Given the description of an element on the screen output the (x, y) to click on. 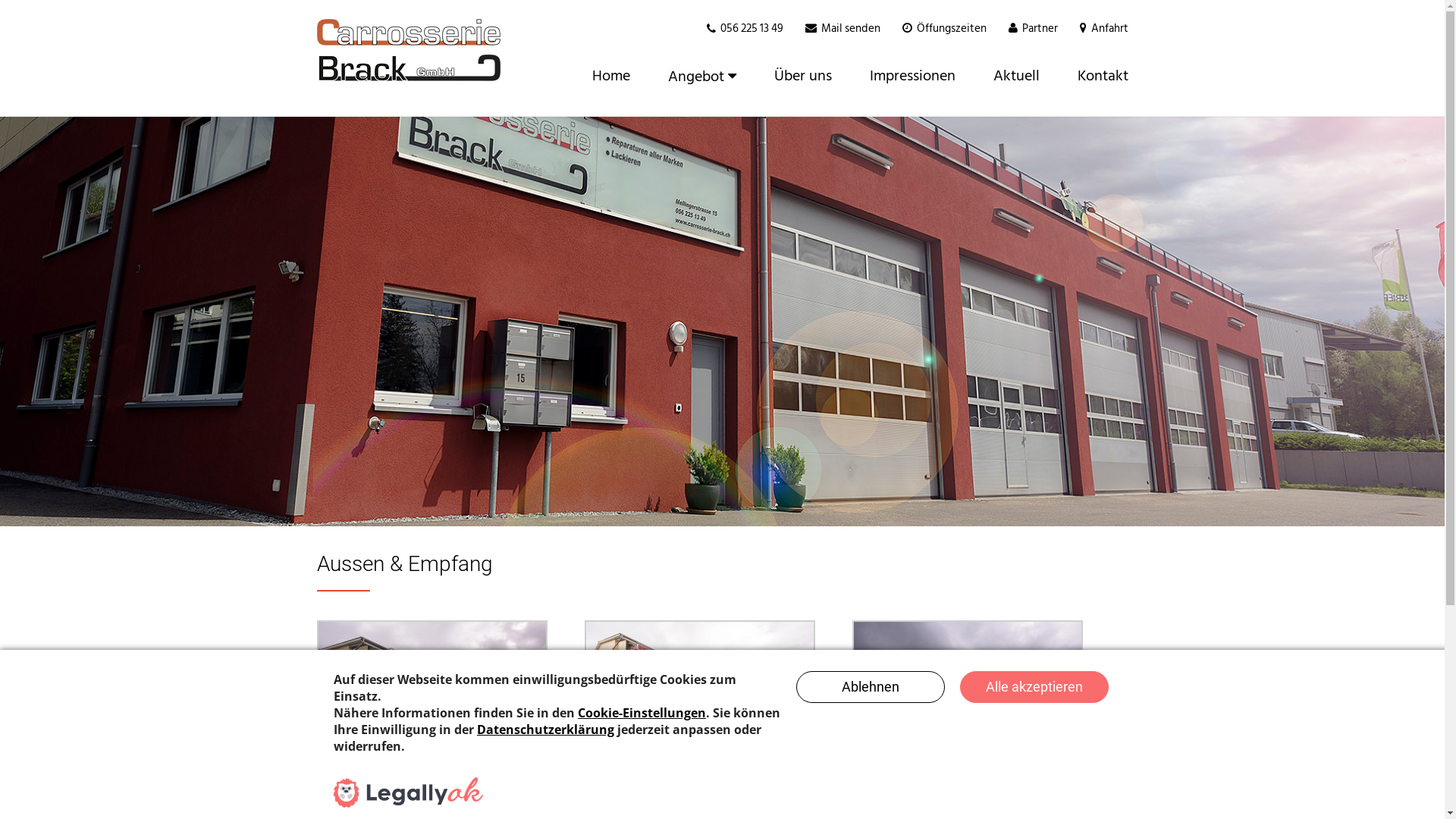
Angebot Element type: text (702, 75)
Mail senden Element type: text (849, 27)
Aktuell Element type: text (1015, 75)
056 225 13 49 Element type: text (751, 27)
Kontakt Element type: text (1093, 75)
Anfahrt Element type: text (1108, 27)
Impressionen Element type: text (912, 75)
Home Element type: text (611, 75)
